Given the description of an element on the screen output the (x, y) to click on. 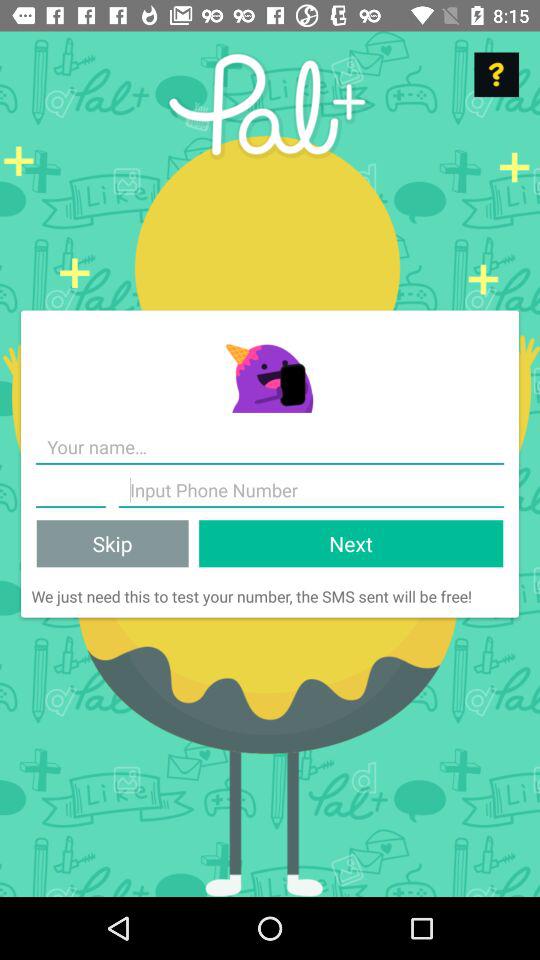
turn off item above skip item (311, 490)
